Given the description of an element on the screen output the (x, y) to click on. 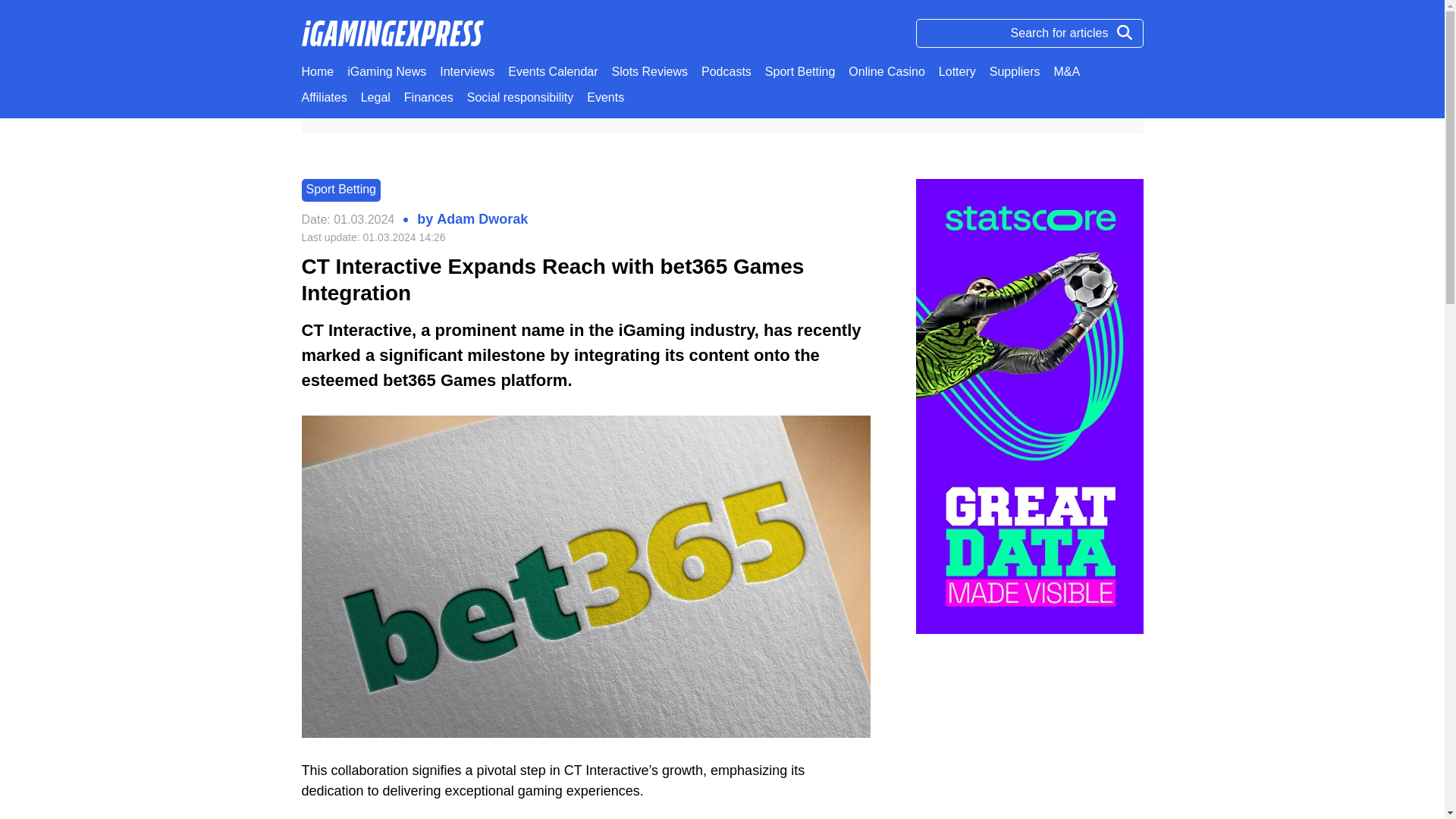
Finances (428, 97)
Search for articles (1028, 32)
Online Casino (886, 72)
Sport Betting (341, 190)
Affiliates (324, 97)
Home (317, 72)
Legal (375, 97)
IGAMINGEXPRESS.COM (374, 114)
Adam Dworak (481, 219)
Events Calendar (552, 72)
